Given the description of an element on the screen output the (x, y) to click on. 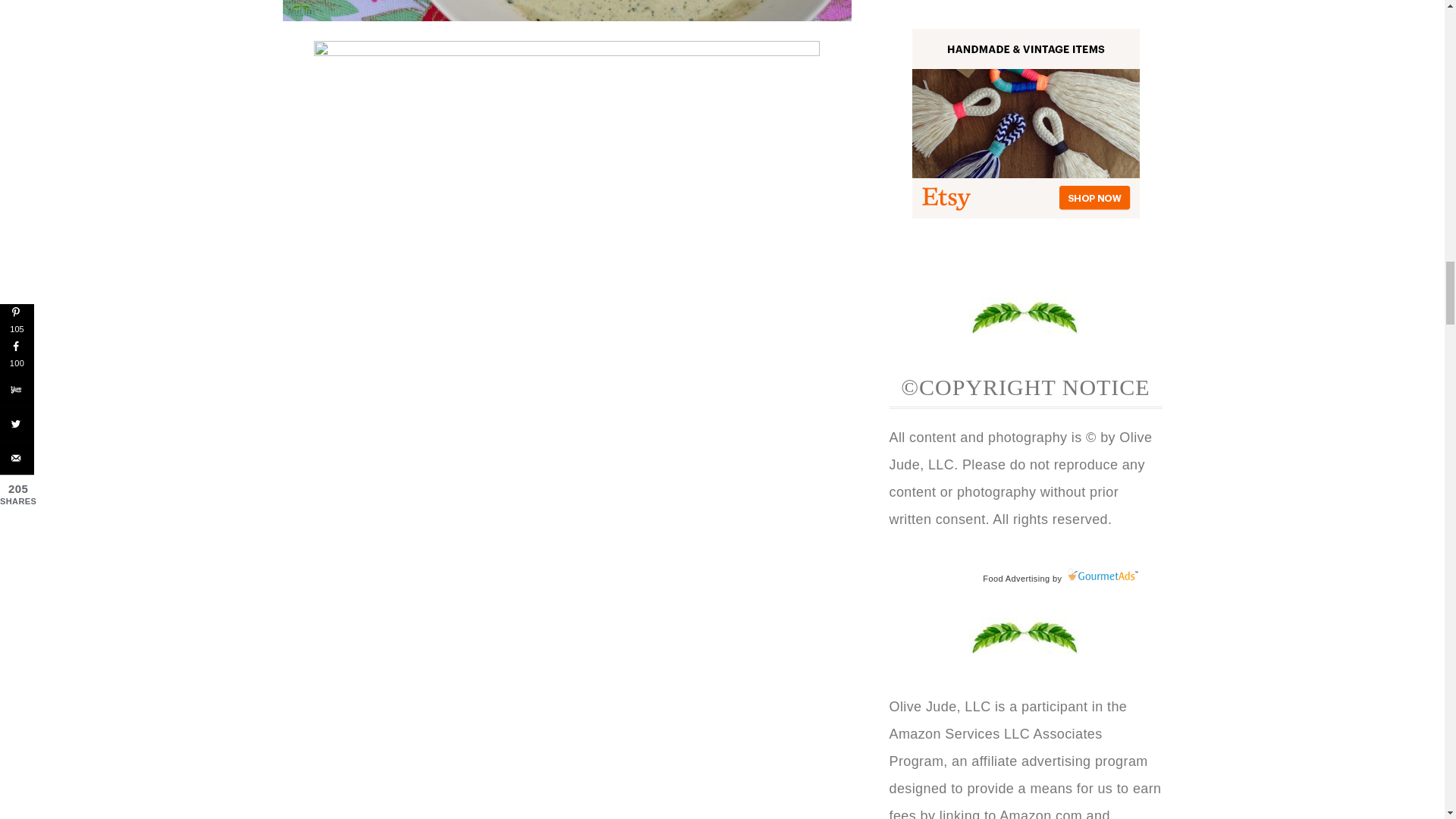
Food Advertising (1015, 578)
